Given the description of an element on the screen output the (x, y) to click on. 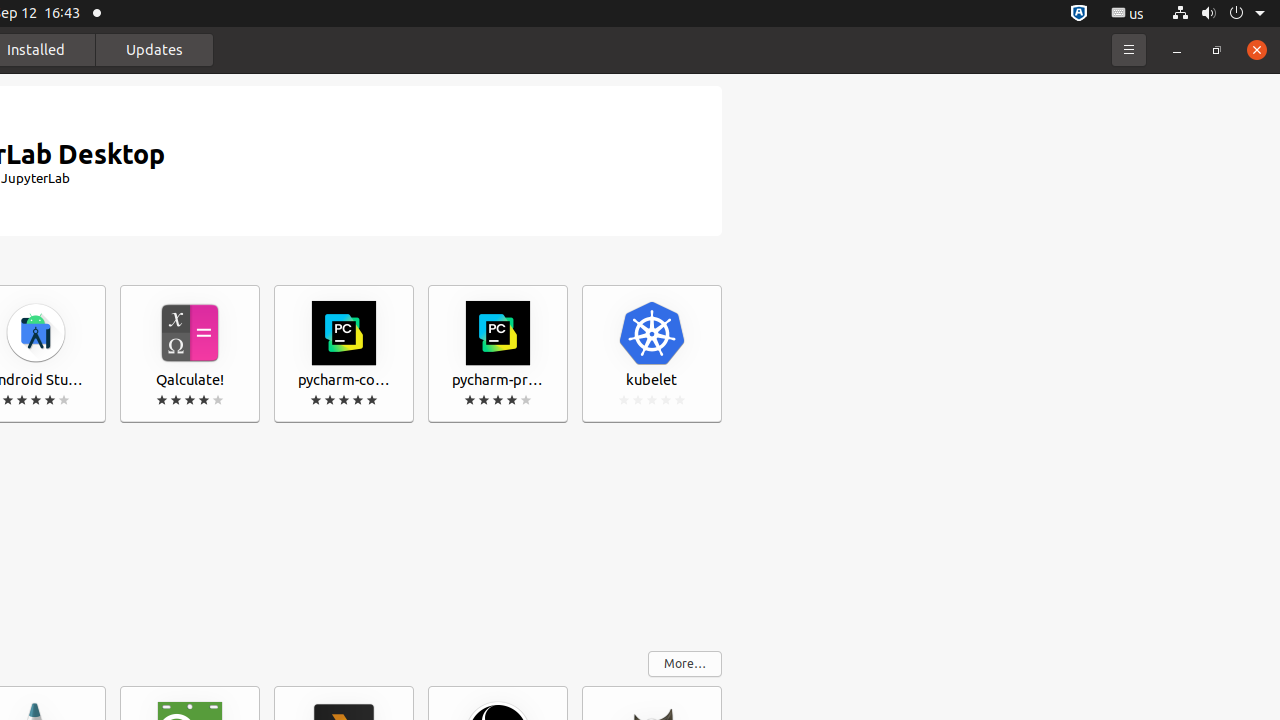
Restore Element type: push-button (1217, 50)
pycharm-professional Element type: push-button (498, 354)
kubelet Element type: push-button (652, 354)
